Given the description of an element on the screen output the (x, y) to click on. 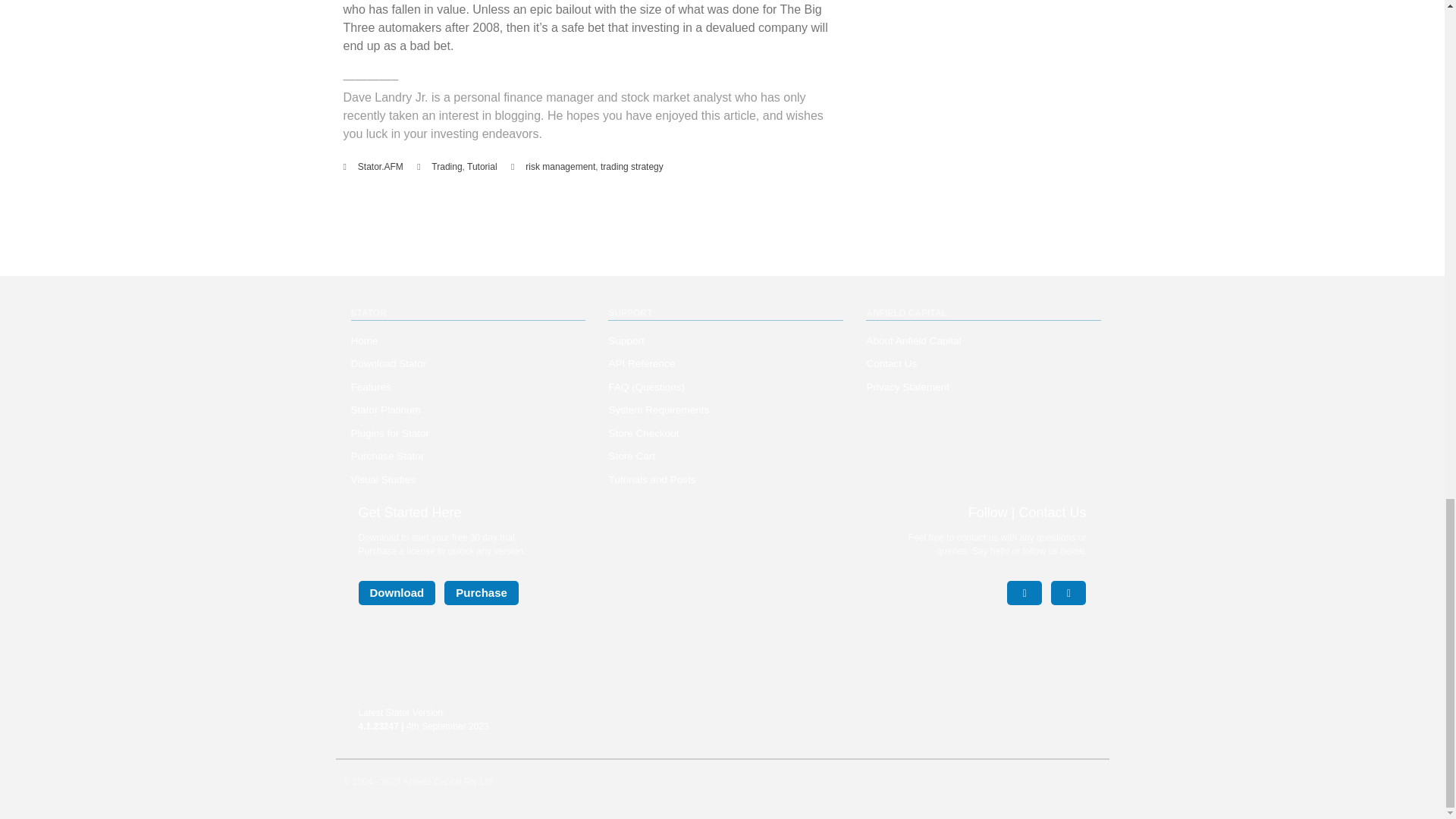
View all posts in Trading (445, 166)
View all posts in Tutorial (482, 166)
View all posts tagged risk management (560, 166)
View all posts tagged trading strategy (631, 166)
View all posts by Stator.AFM (380, 166)
risk management (560, 166)
Tutorial (482, 166)
trading strategy (631, 166)
Stator.AFM (380, 166)
Trading (445, 166)
